Given the description of an element on the screen output the (x, y) to click on. 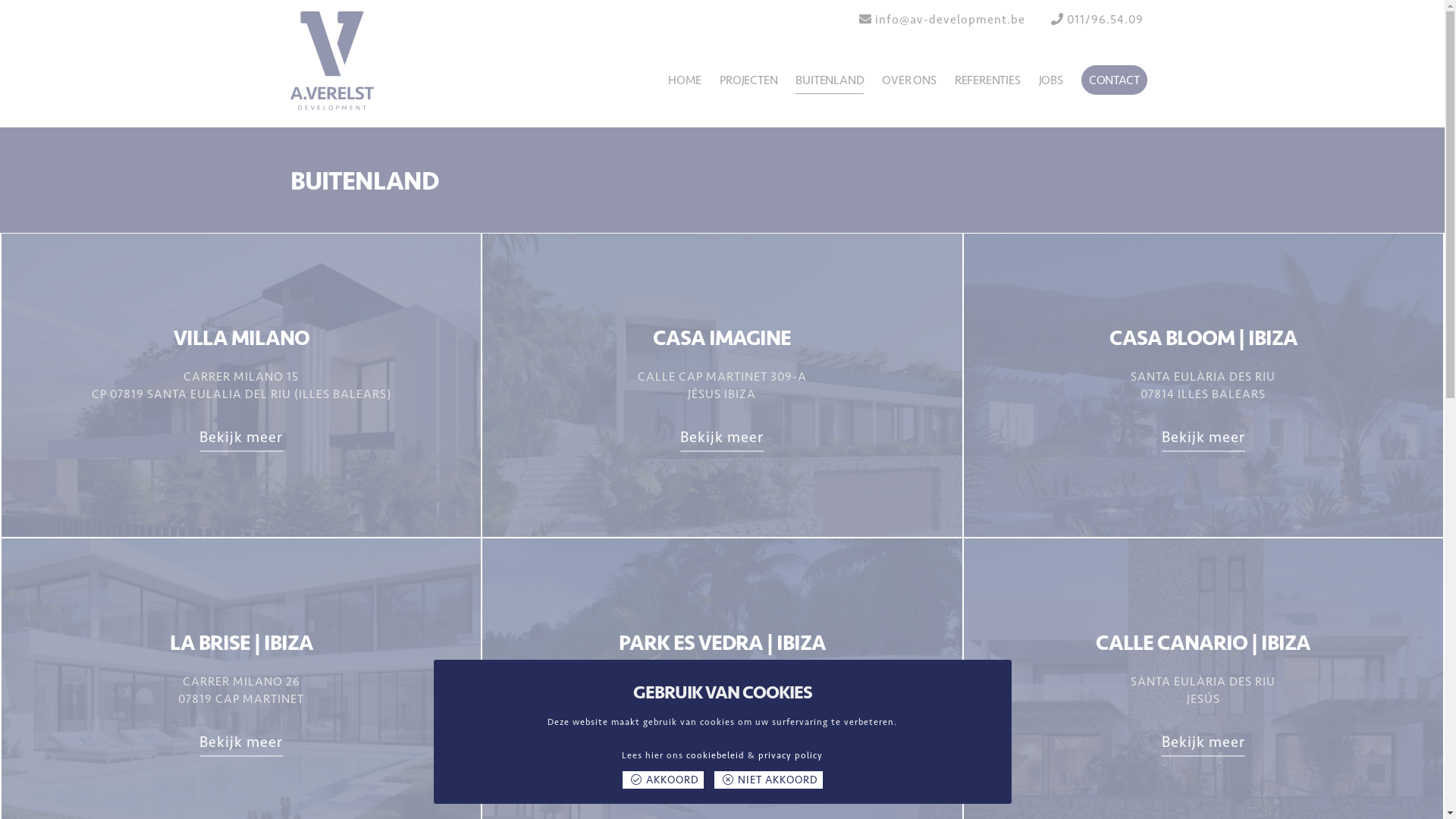
AV-Development Element type: text (338, 60)
JOBS Element type: text (1050, 79)
CONTACT Element type: text (1114, 79)
HOME Element type: text (684, 79)
OVER ONS Element type: text (908, 79)
REFERENTIES Element type: text (987, 79)
PROJECTEN Element type: text (748, 79)
011/96.54.09 Element type: text (1104, 19)
cookiebeleid Element type: text (715, 754)
NIET AKKOORD Element type: text (768, 779)
privacy policy Element type: text (790, 754)
AKKOORD Element type: text (661, 779)
BUITENLAND Element type: text (829, 79)
info@av-development.be Element type: text (950, 19)
